Given the description of an element on the screen output the (x, y) to click on. 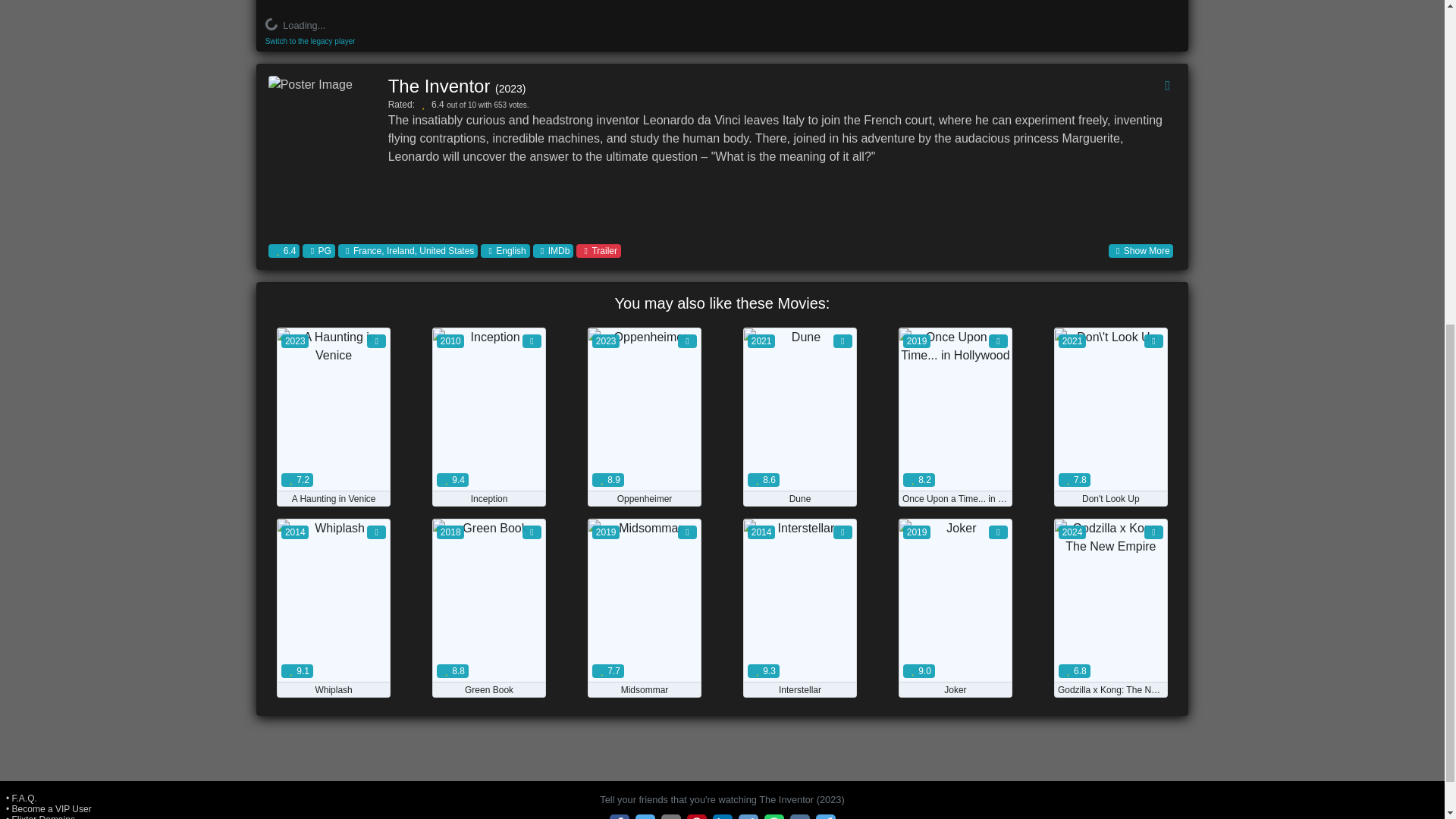
Watch Now (1110, 468)
Rated: 8.9 out of 10 with 788,853 votes. (643, 498)
Rated 6.4 out of 10 with 653 votes. (283, 250)
Download (846, 498)
Watch Now (955, 659)
Watch Now (333, 659)
Watch Now (333, 468)
Watch Now (955, 468)
Download (690, 498)
Download (379, 498)
